Given the description of an element on the screen output the (x, y) to click on. 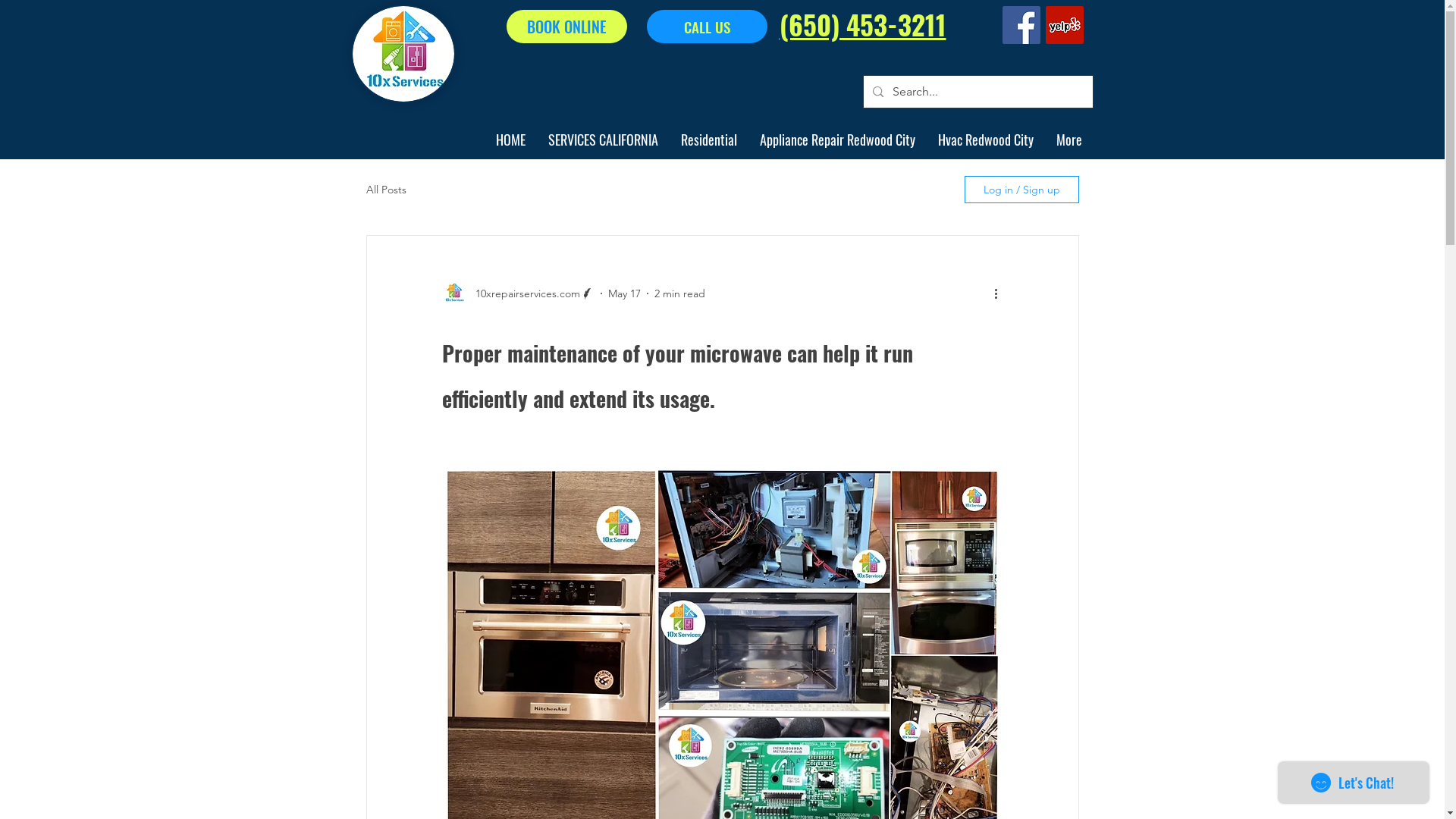
All Posts Element type: text (385, 189)
Appliance Repair Redwood City Element type: text (836, 139)
SERVICES CALIFORNIA Element type: text (602, 139)
(650) 453-3211 Element type: text (862, 26)
BOOK ONLINE Element type: text (566, 26)
Hvac Redwood City Element type: text (985, 139)
HOME Element type: text (509, 139)
Residential Element type: text (707, 139)
CALL US Element type: text (706, 26)
Log in / Sign up Element type: text (1021, 189)
